Given the description of an element on the screen output the (x, y) to click on. 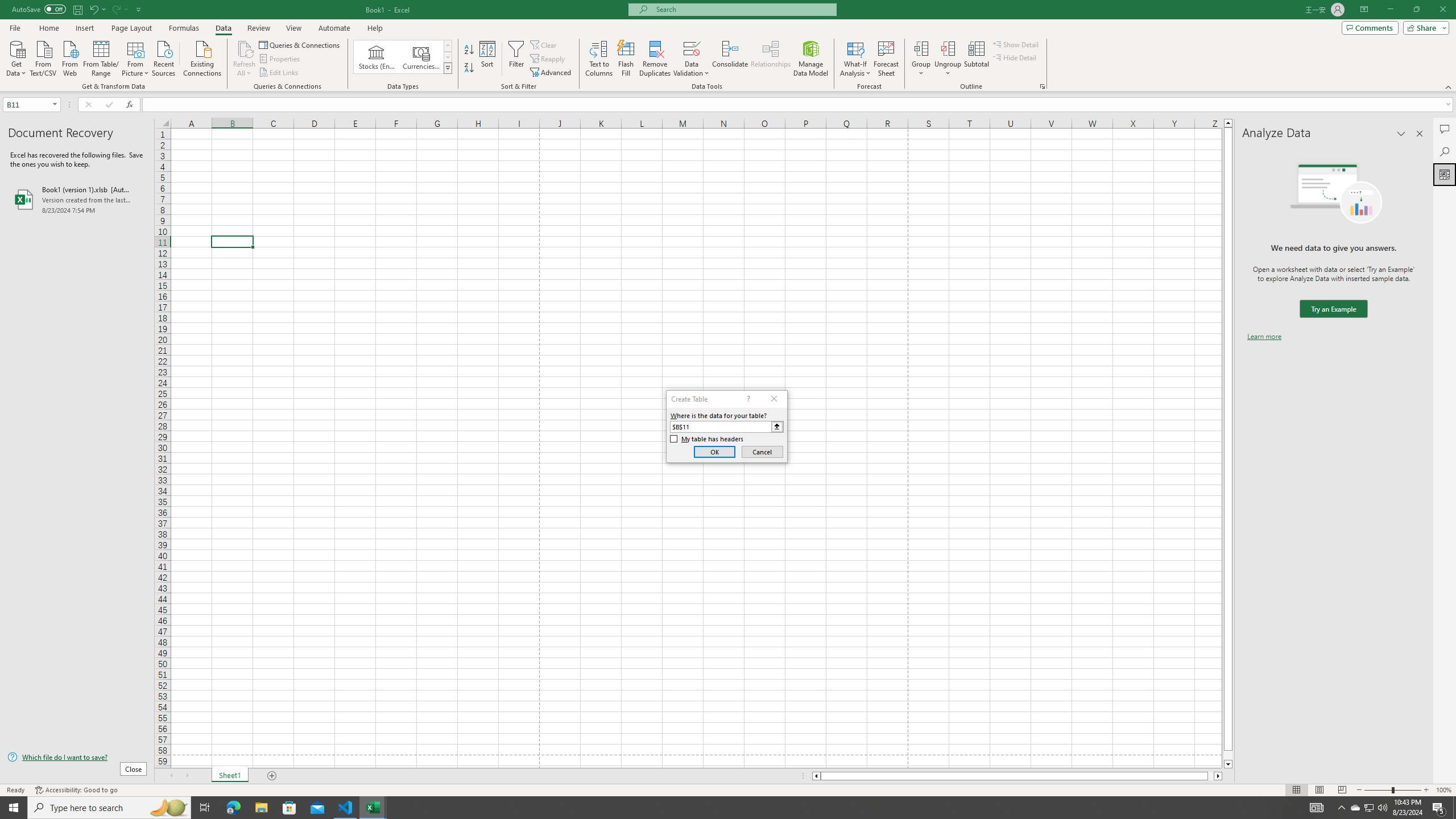
Refresh All (244, 48)
Sort Z to A (469, 67)
Ungroup... (947, 48)
Existing Connections (202, 57)
Currencies (English) (420, 56)
Relationships (770, 58)
Class: NetUIImage (447, 68)
